Given the description of an element on the screen output the (x, y) to click on. 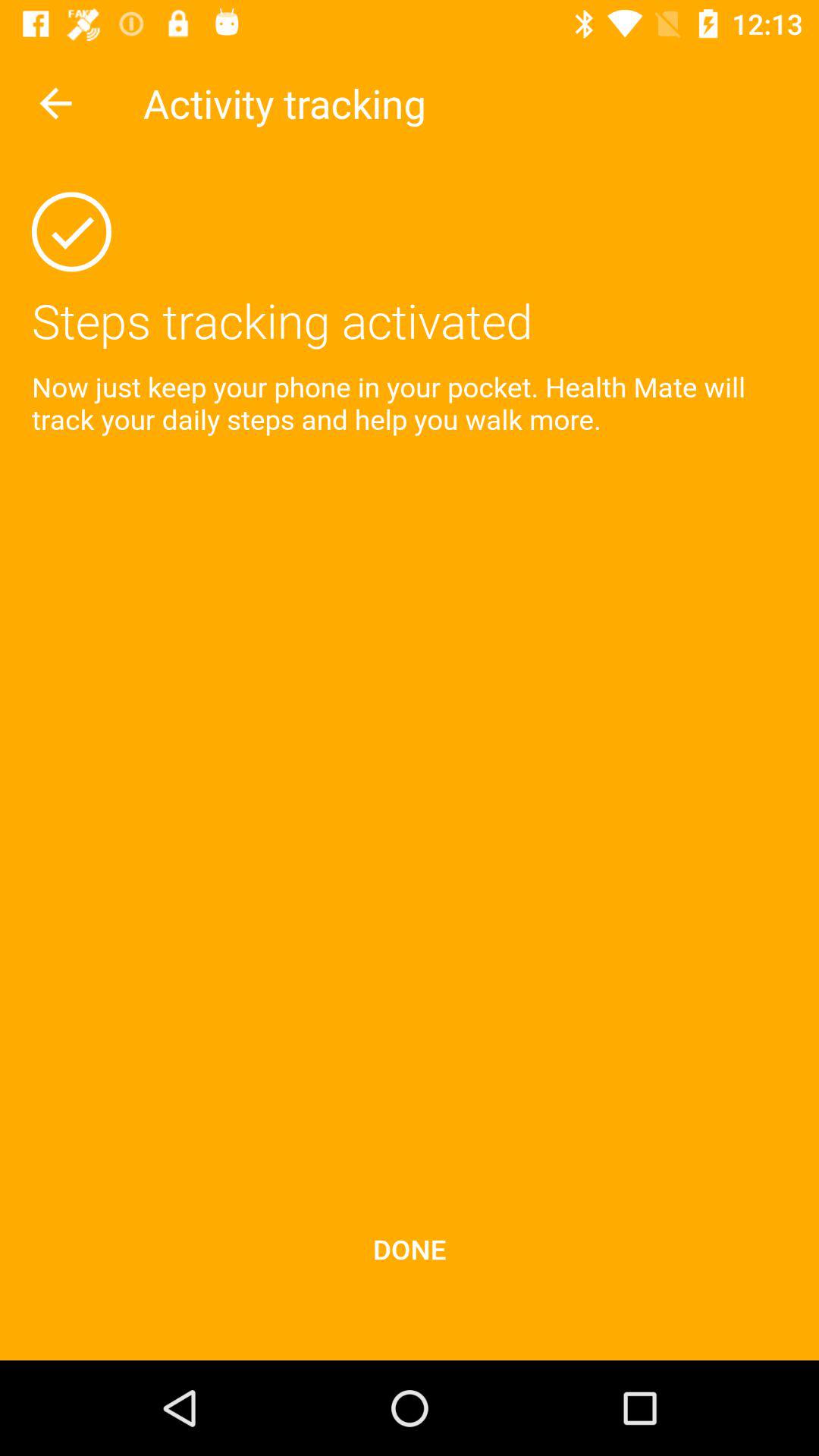
press the icon to the left of the activity tracking app (55, 103)
